Given the description of an element on the screen output the (x, y) to click on. 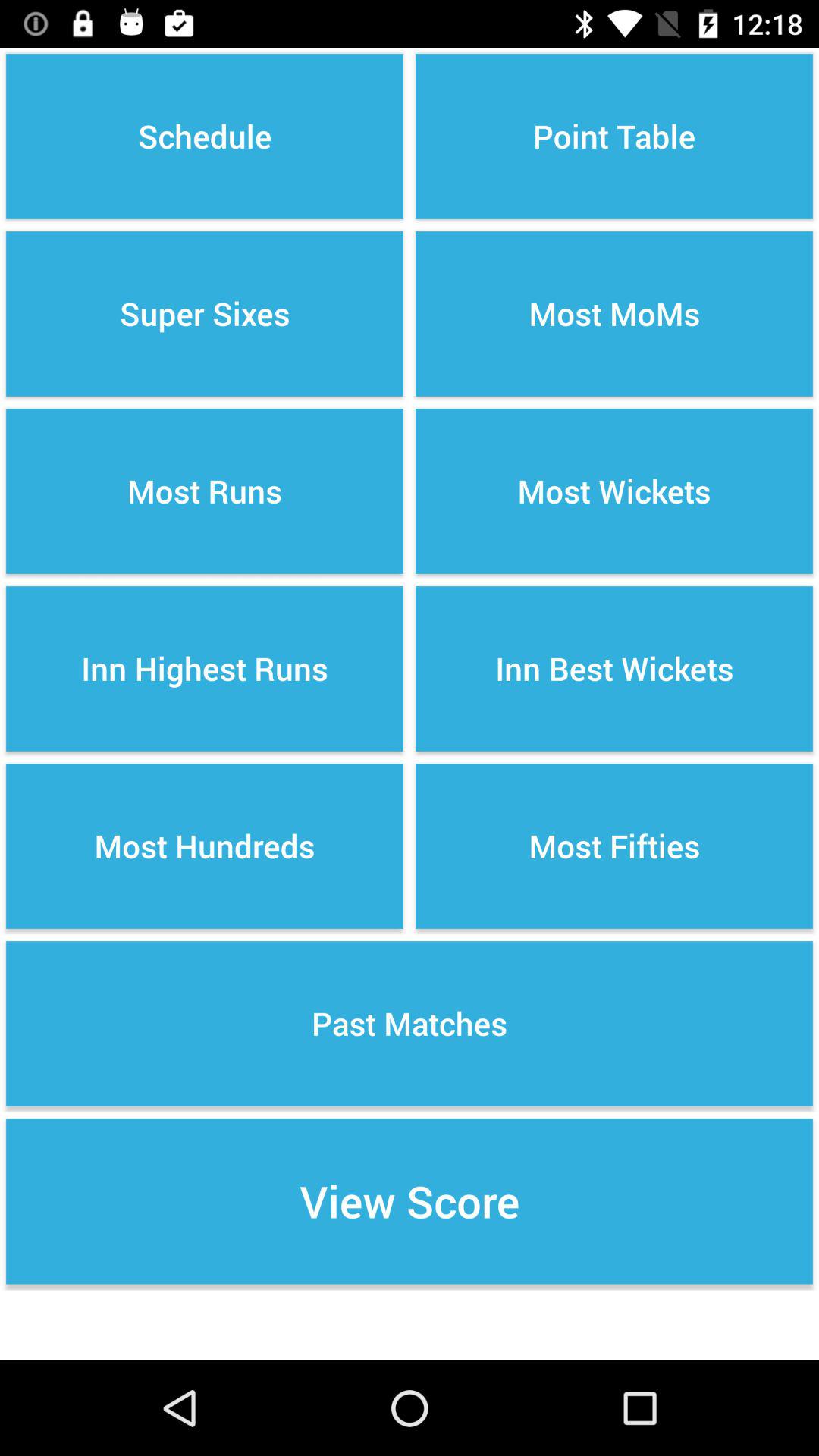
turn off button next to the inn highest runs icon (613, 845)
